Given the description of an element on the screen output the (x, y) to click on. 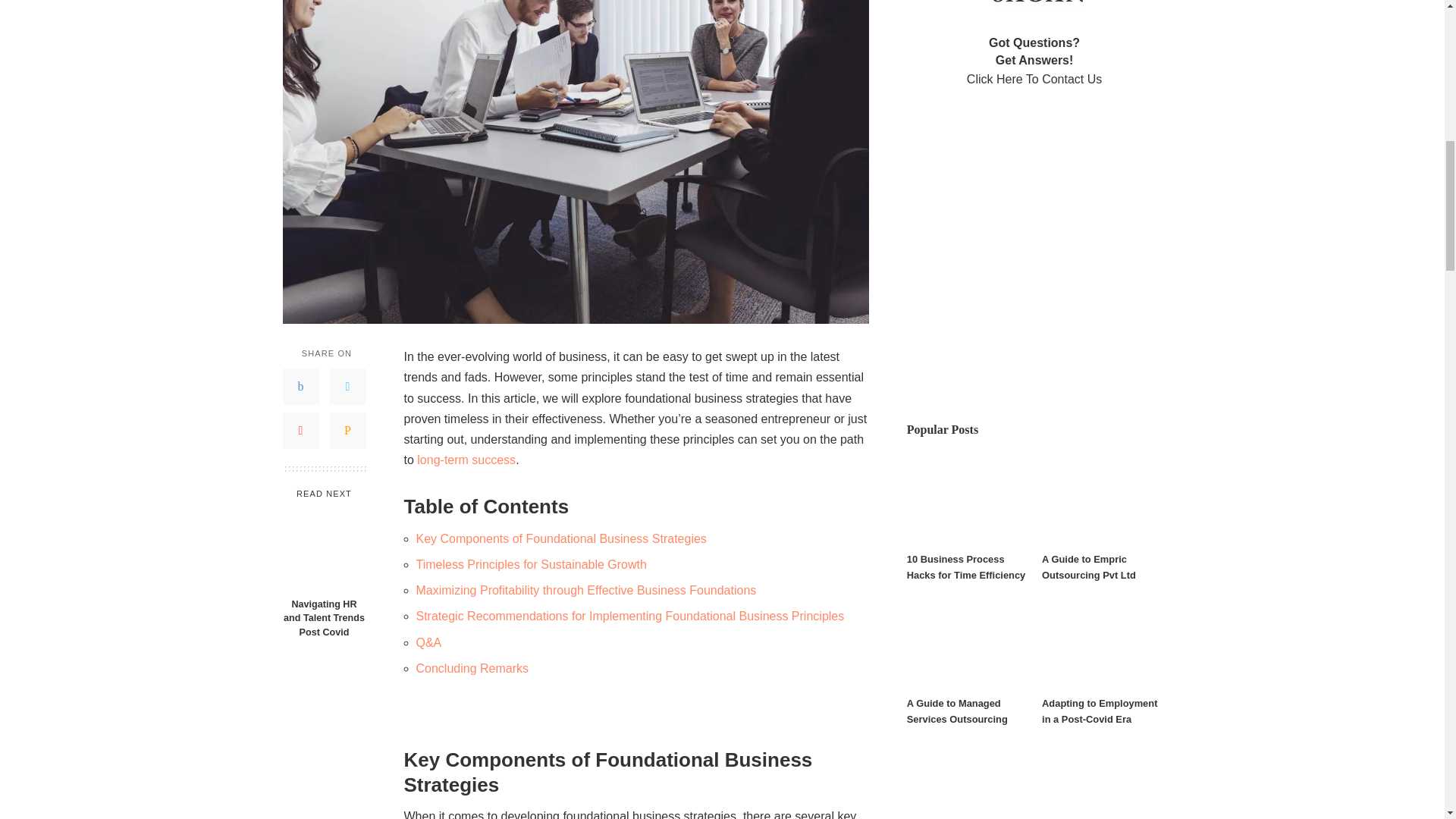
Navigating HR and Talent Trends Post Covid (323, 618)
Maximize Efficiency: Benefits of Payroll Outsourcing (465, 459)
Pinterest (300, 430)
Twitter (347, 386)
Facebook (300, 386)
Email (347, 430)
Concluding Remarks (471, 667)
Key Components of Foundational Business Strategies (560, 538)
long-term success (465, 459)
